Given the description of an element on the screen output the (x, y) to click on. 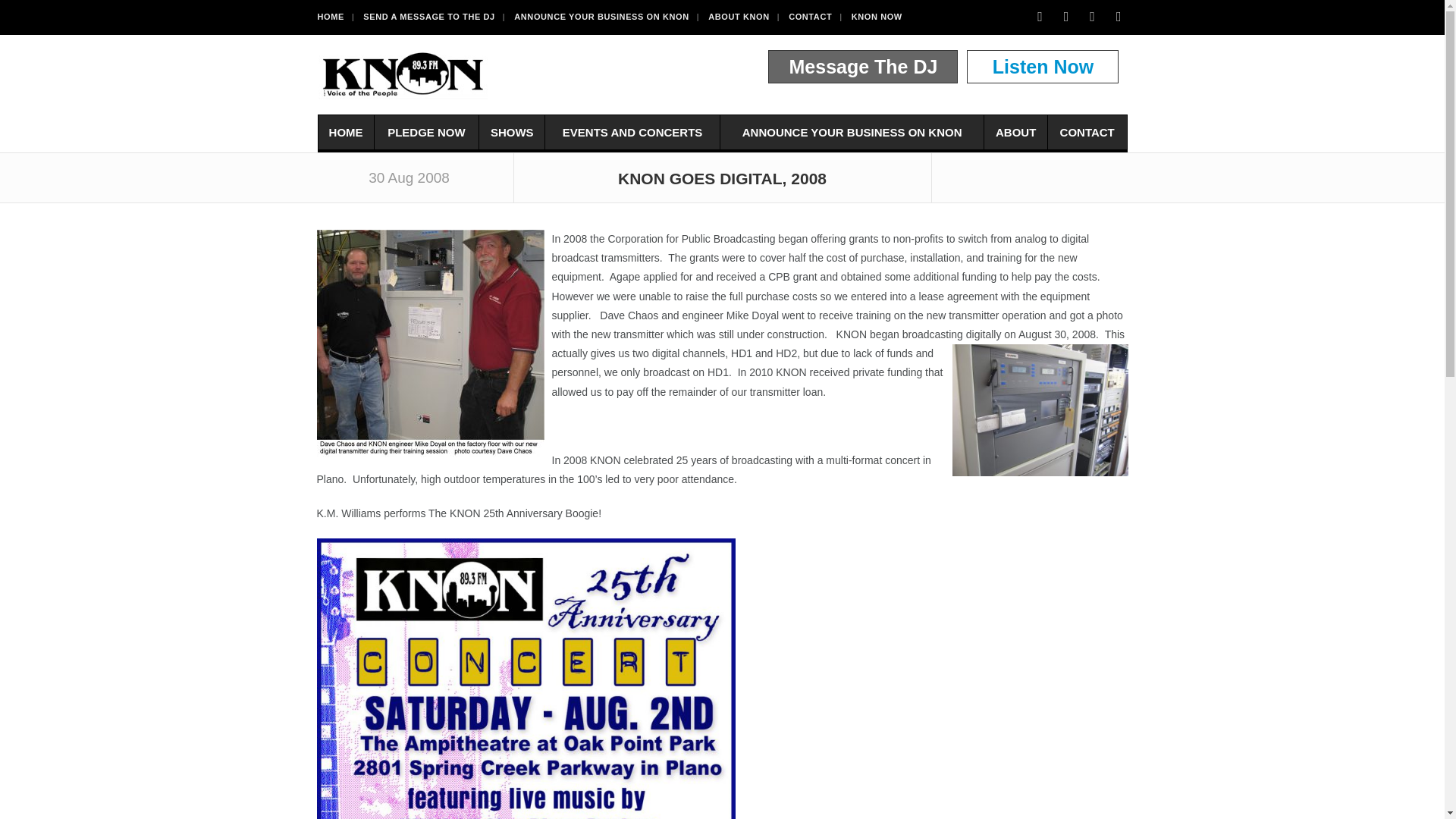
CONTACT (816, 16)
Listen Now (1042, 66)
ANNOUNCE YOUR BUSINESS ON KNON (605, 16)
HOME (335, 16)
SHOWS (511, 132)
SEND A MESSAGE TO THE DJ (433, 16)
PLEDGE NOW (426, 132)
Message The DJ (863, 66)
HOME (346, 132)
ABOUT KNON (742, 16)
KNON NOW (880, 16)
